Given the description of an element on the screen output the (x, y) to click on. 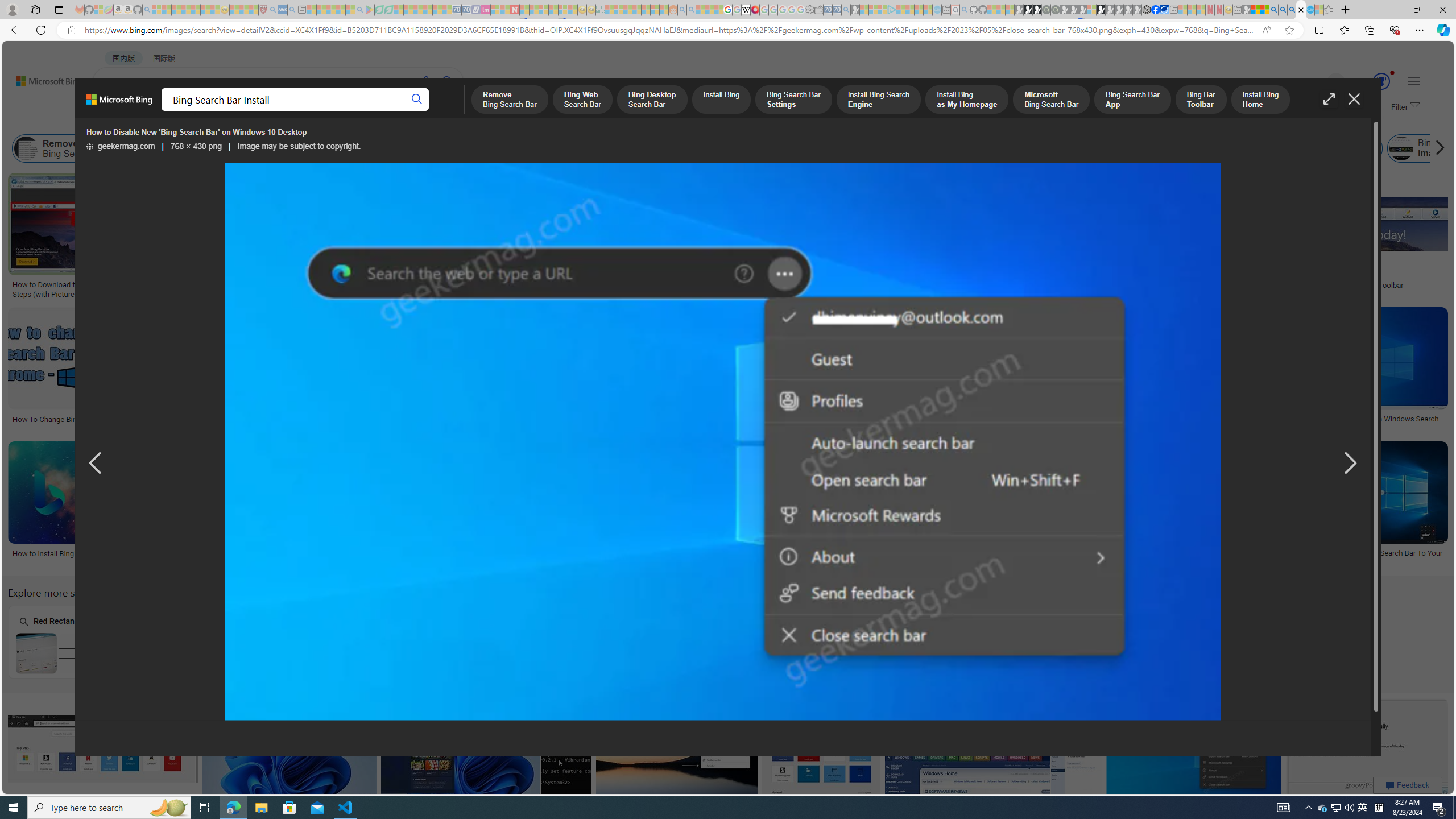
Red Rectangle (78, 641)
Enter Key (370, 641)
Eugene (1319, 81)
Mugs (704, 246)
MY BING (156, 111)
Download Bing Bar, the new Bing Toolbar (1336, 284)
